Given the description of an element on the screen output the (x, y) to click on. 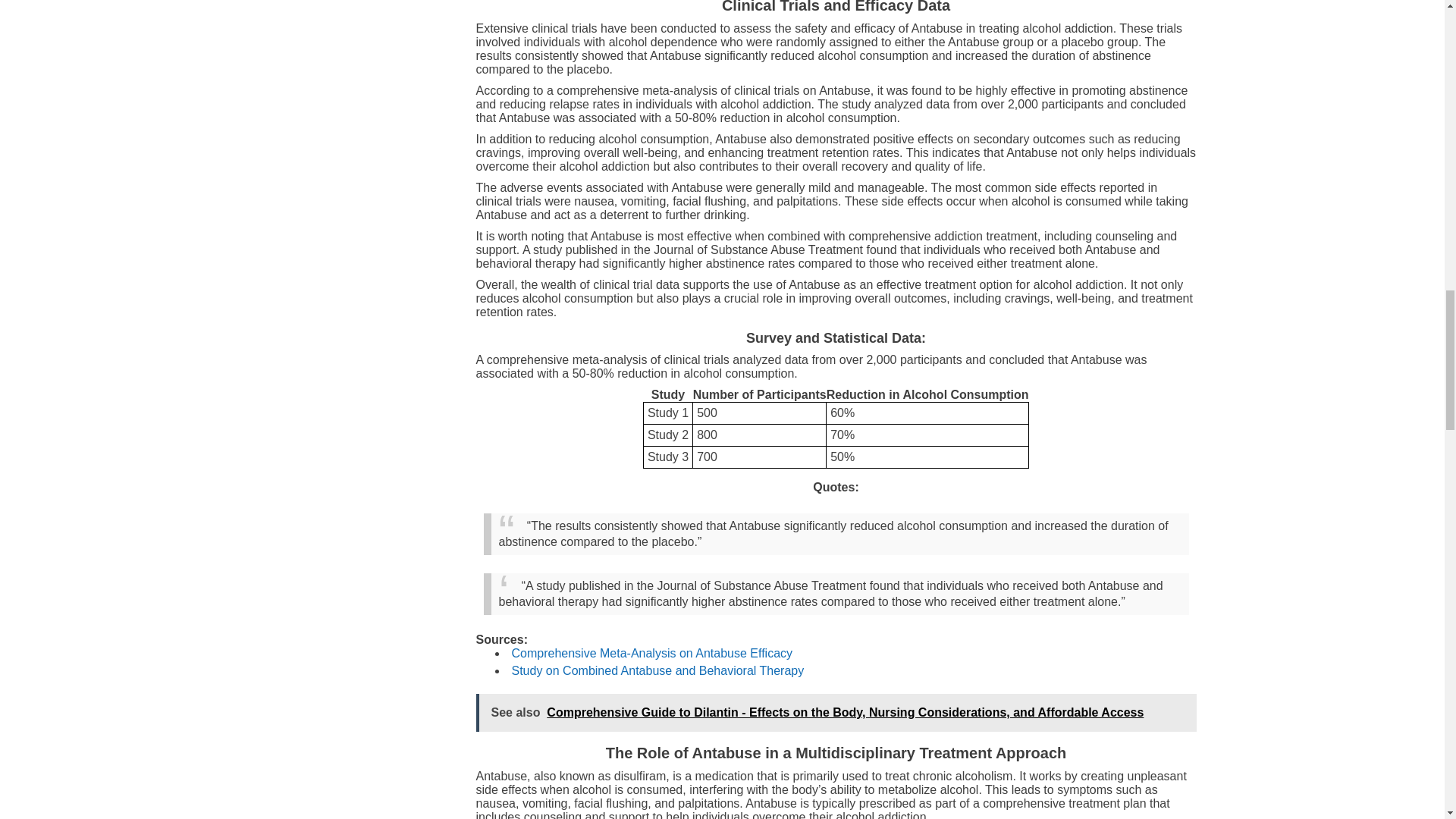
Comprehensive Meta-Analysis on Antabuse Efficacy (651, 653)
Study on Combined Antabuse and Behavioral Therapy (657, 670)
